Given the description of an element on the screen output the (x, y) to click on. 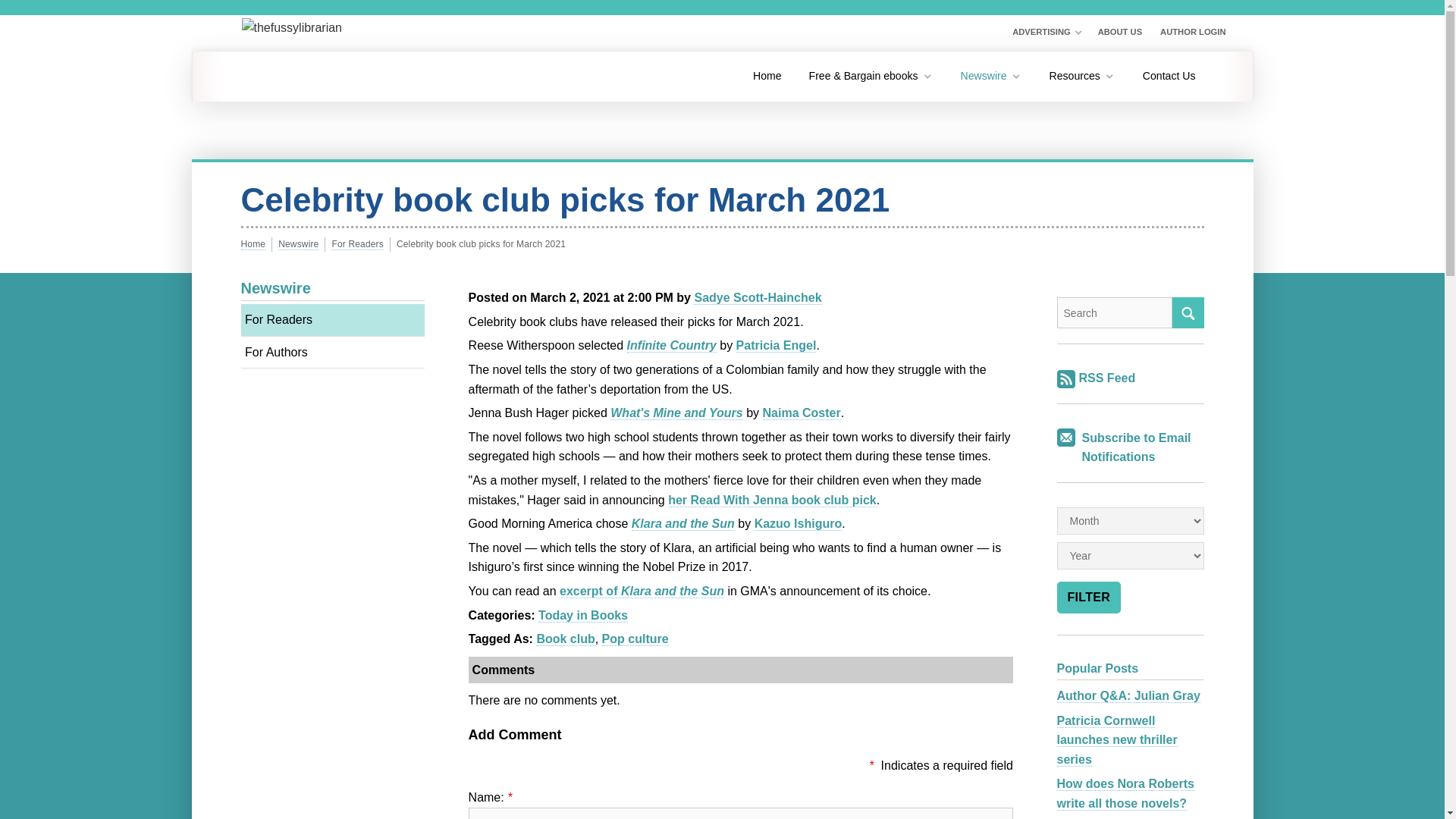
AUTHOR LOGIN (1192, 32)
Home (767, 76)
Resources (1081, 76)
Contact Us (1169, 76)
Newswire (991, 76)
ADVERTISING (1046, 32)
ABOUT US (1119, 32)
